Given the description of an element on the screen output the (x, y) to click on. 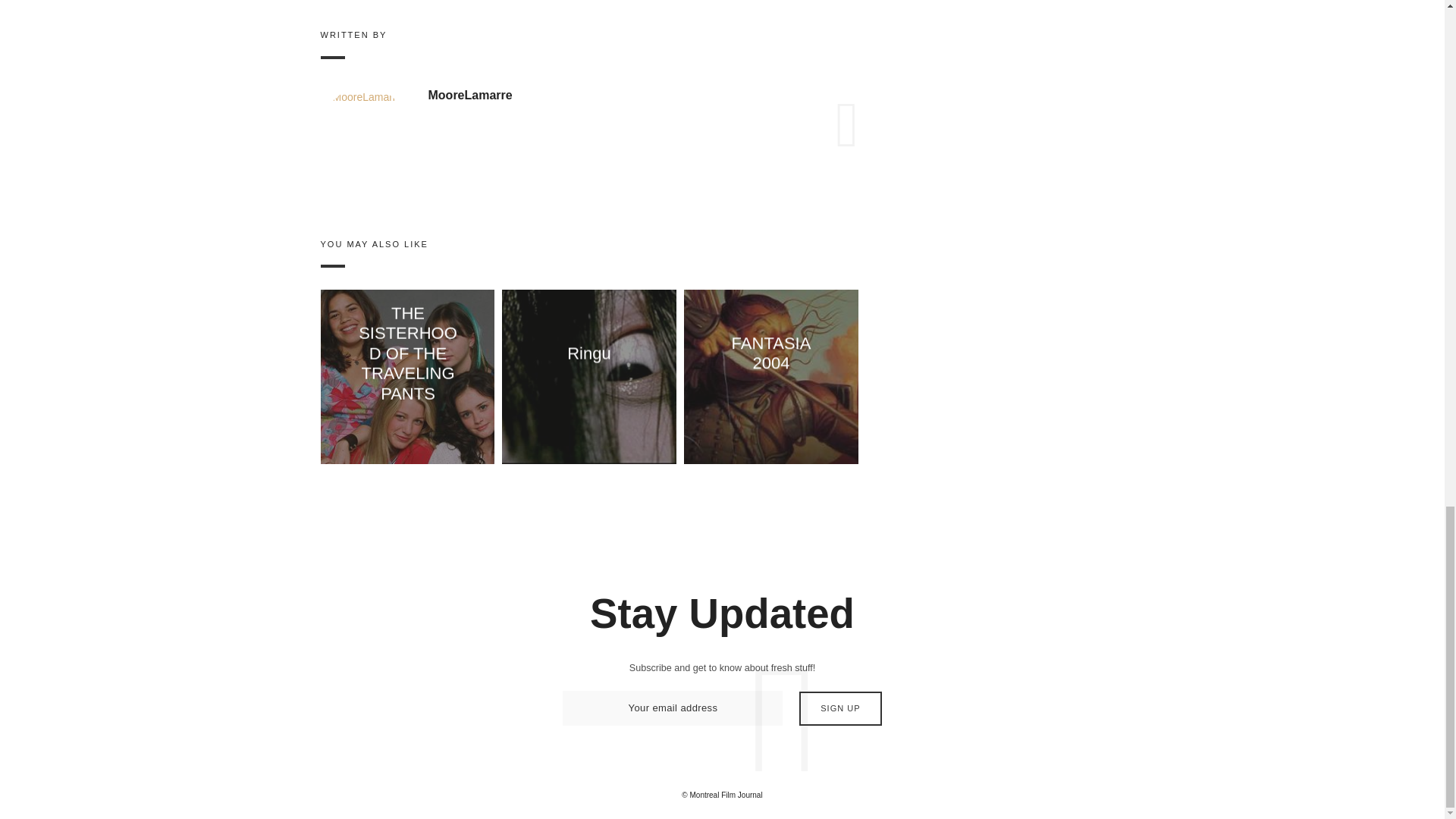
Sign up (839, 708)
FANTASIA 2004 (771, 352)
THE SISTERHOOD OF THE TRAVELING PANTS (407, 352)
Ringu (589, 352)
